Given the description of an element on the screen output the (x, y) to click on. 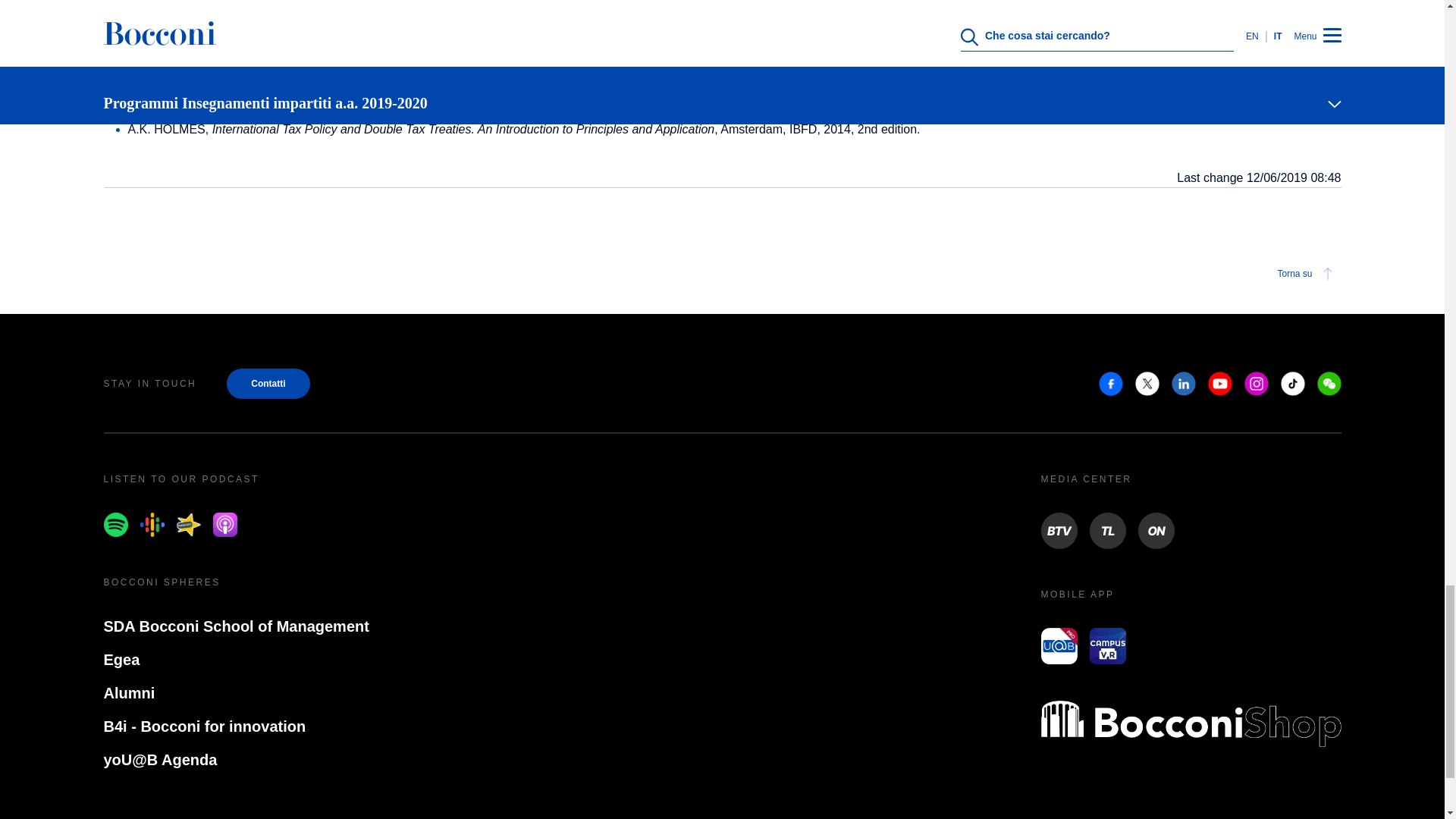
BTV (1059, 530)
TL (1107, 530)
Instagram (1255, 383)
ON (1155, 530)
Google podcast (151, 524)
Facebook (1109, 383)
Torna su (1306, 273)
Apple podcast (223, 524)
Youtube (1219, 383)
Tiktok (1291, 383)
Spotify (115, 524)
Weechat (1328, 383)
Twitter (1146, 383)
Torna su (721, 273)
Linkedin (1182, 383)
